Given the description of an element on the screen output the (x, y) to click on. 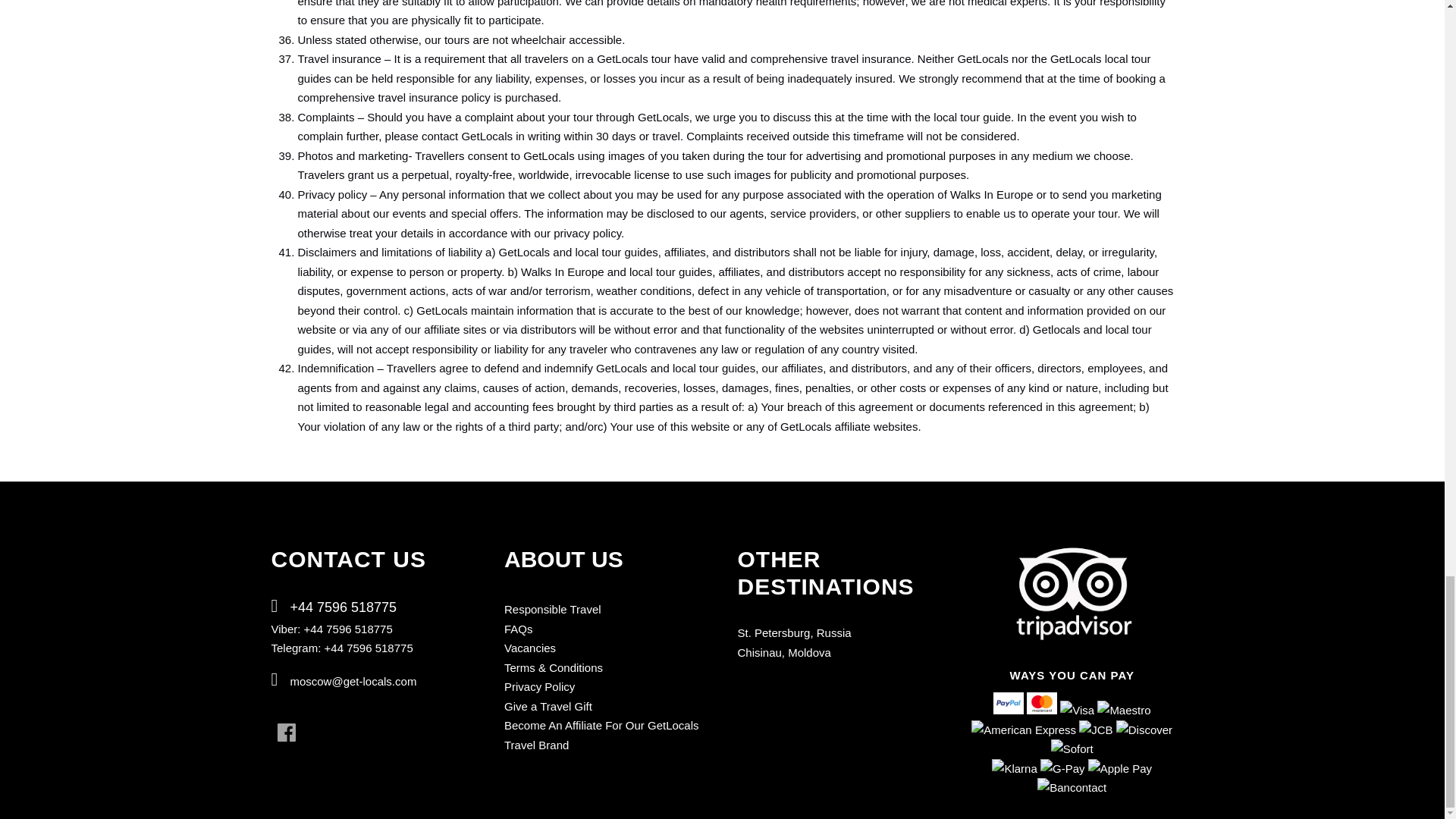
FAQs (517, 628)
Give a Travel Gift (547, 706)
Vacancies (529, 647)
Chisinau, Moldova (782, 652)
Privacy Policy (539, 686)
Responsible Travel (552, 608)
St. Petersburg, Russia (793, 632)
Become An Affiliate For Our GetLocals Travel Brand (600, 735)
